Given the description of an element on the screen output the (x, y) to click on. 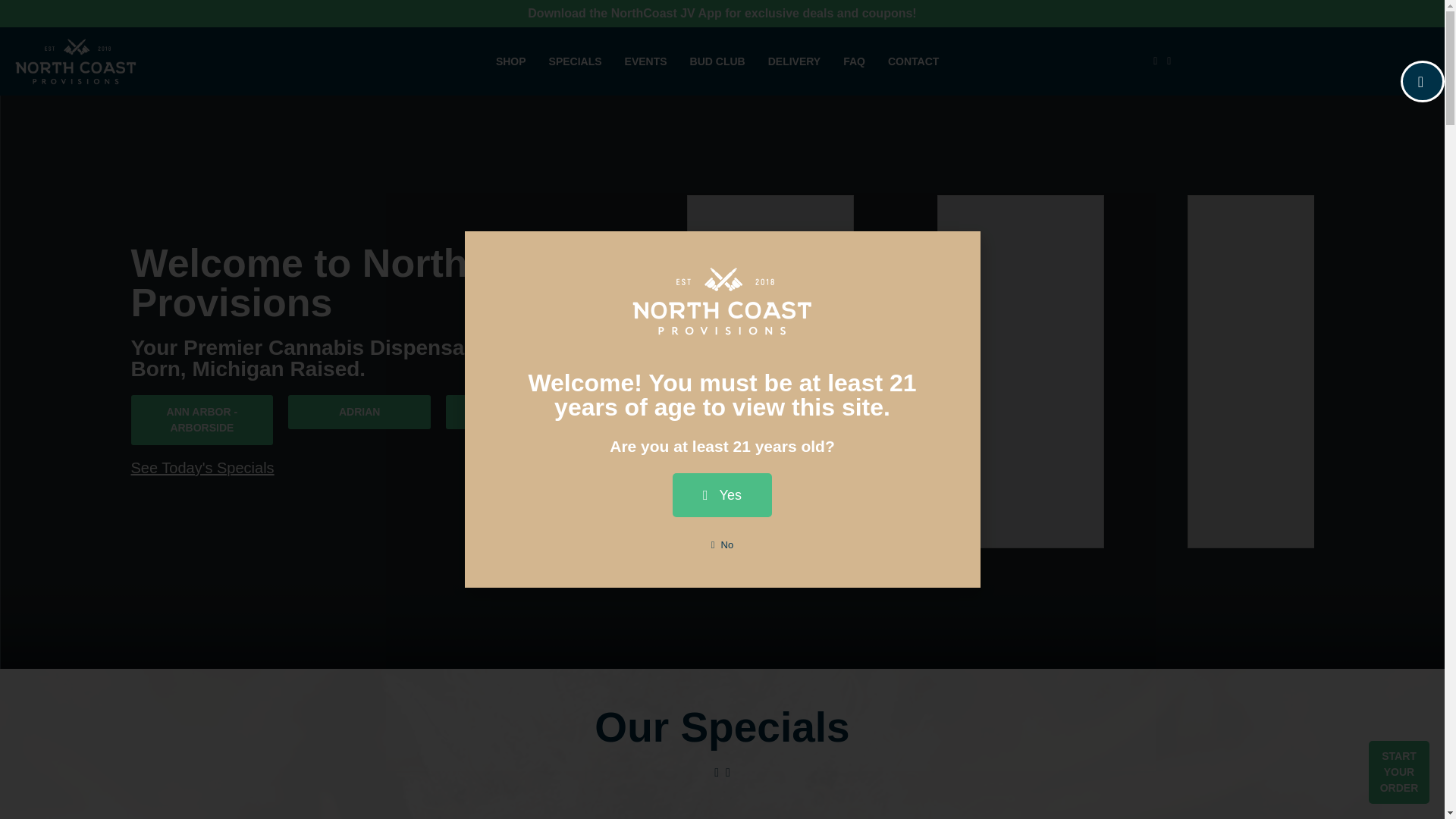
SHOP (510, 61)
SAULT STE MARIE (516, 411)
See Today's Specials (202, 467)
SPECIALS (574, 61)
CONTACT (912, 61)
FAQ (854, 61)
ADRIAN (359, 411)
EVENTS (646, 61)
BUD CLUB (717, 61)
ANN ARBOR - ARBORSIDE (202, 420)
DELIVERY (794, 61)
